Given the description of an element on the screen output the (x, y) to click on. 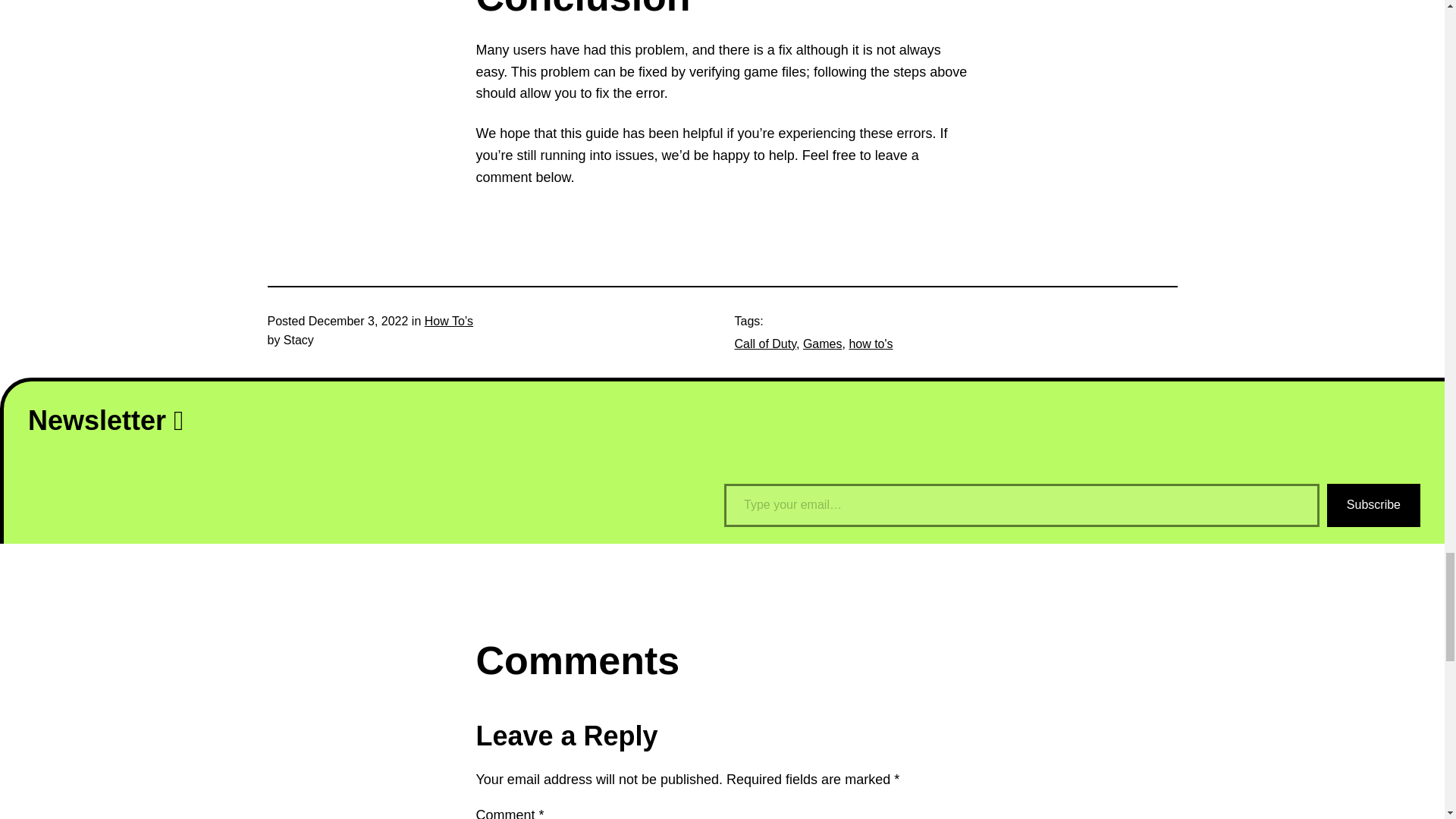
how to's (870, 343)
Please fill in this field. (1021, 505)
Subscribe (1373, 505)
Games (823, 343)
Call of Duty (764, 343)
